Given the description of an element on the screen output the (x, y) to click on. 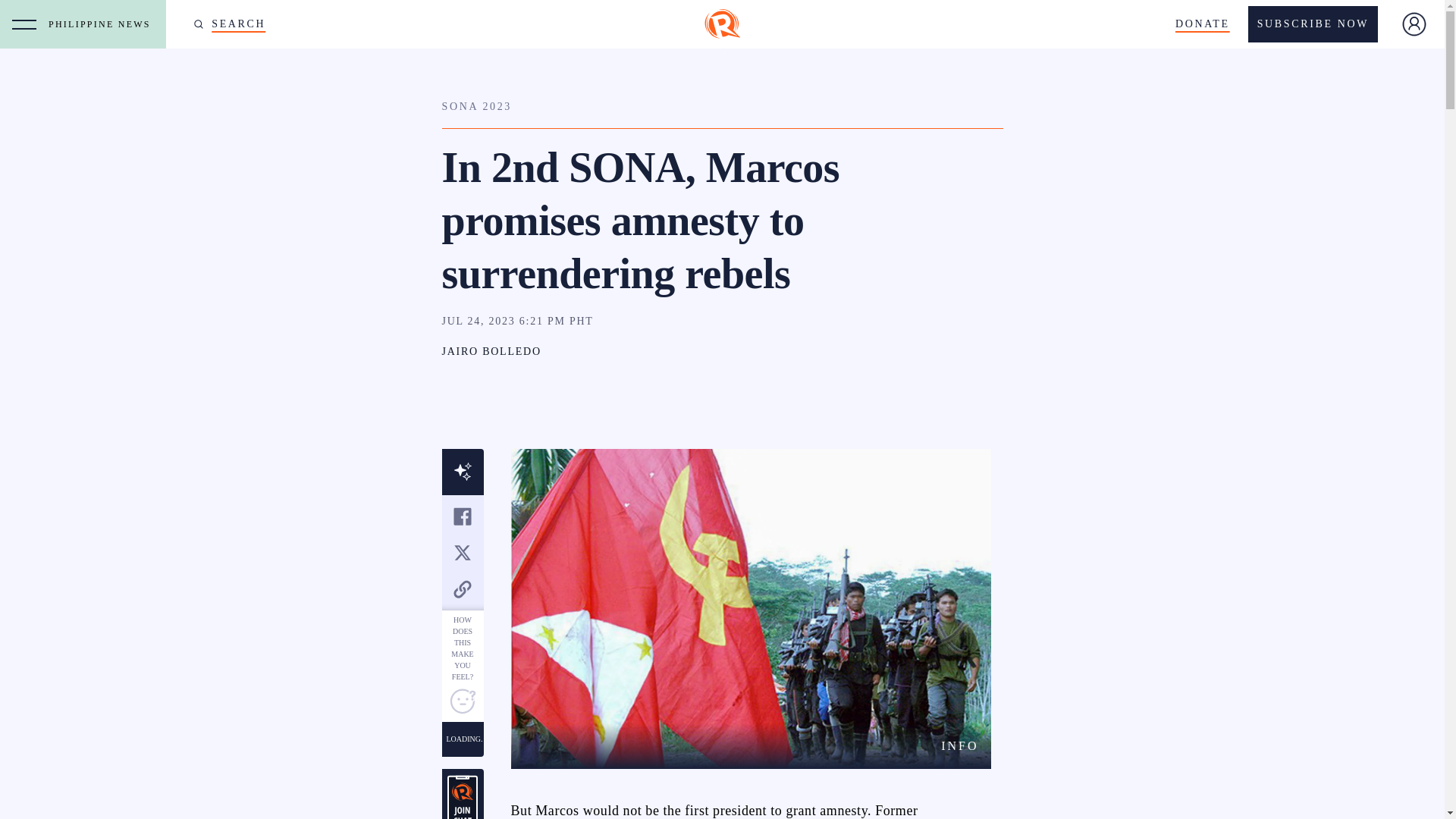
PHILIPPINE NEWS (103, 23)
OPEN NAVIGATION (24, 24)
